Given the description of an element on the screen output the (x, y) to click on. 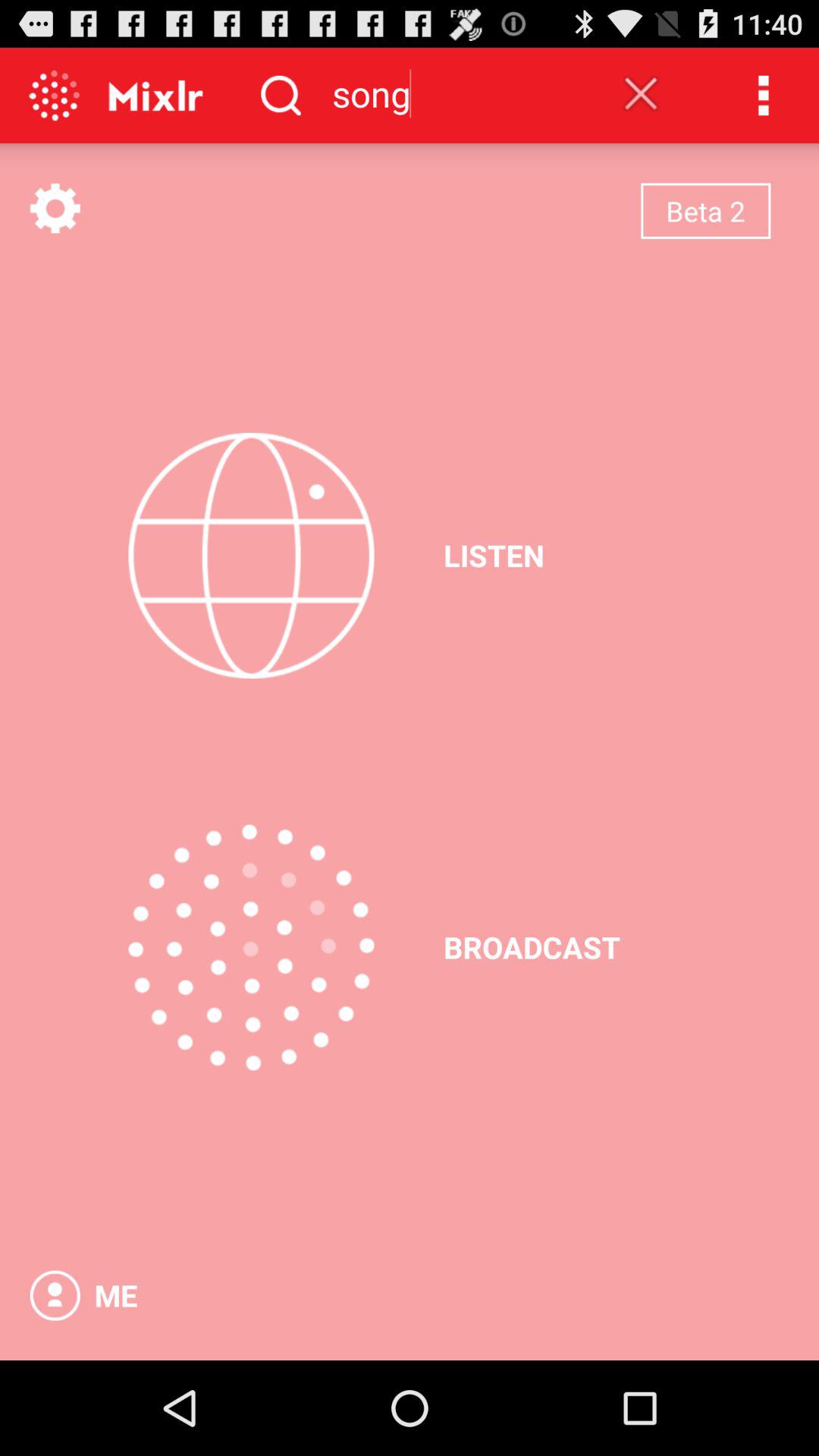
open the icon next to listen icon (251, 555)
